Given the description of an element on the screen output the (x, y) to click on. 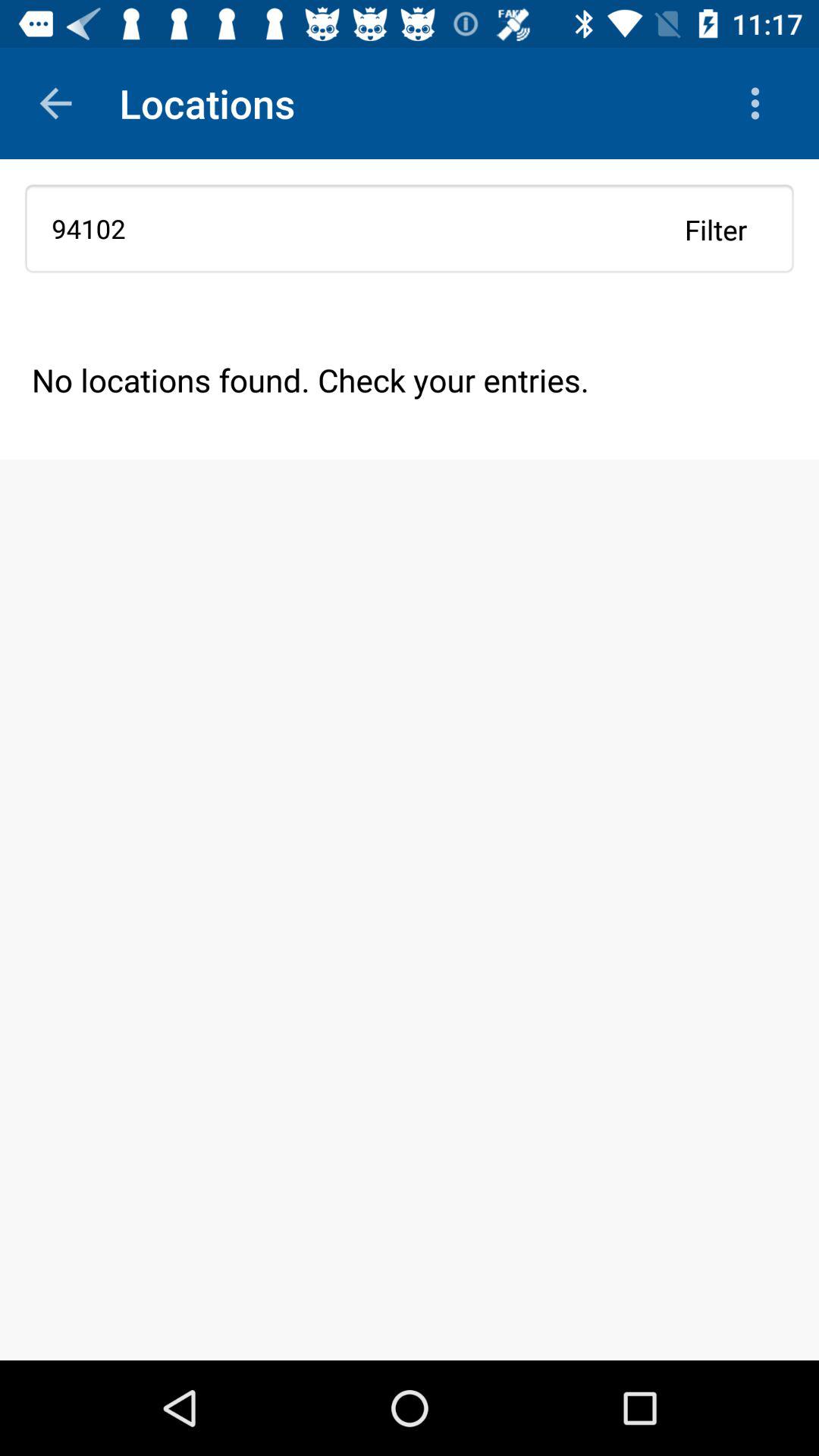
turn on app above no locations found app (715, 229)
